Given the description of an element on the screen output the (x, y) to click on. 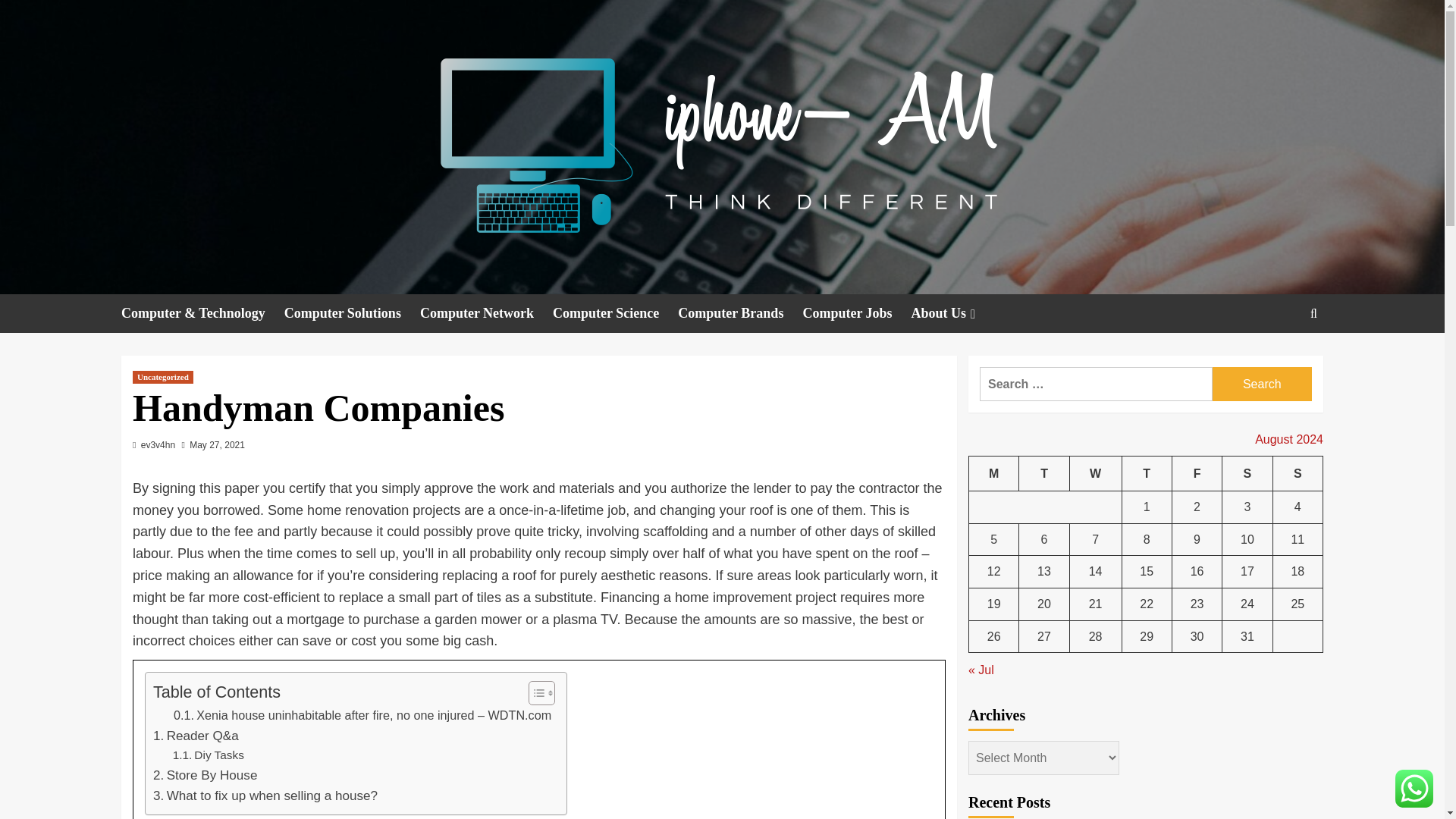
Wednesday (1094, 473)
Computer Solutions (351, 313)
Uncategorized (162, 377)
Diy Tasks (208, 755)
Store By House (204, 774)
Friday (1196, 473)
Computer Brands (740, 313)
Computer Network (486, 313)
Thursday (1146, 473)
Search (1261, 383)
Store By House (204, 774)
What to fix up when selling a house? (264, 795)
Saturday (1247, 473)
What to fix up when selling a house? (264, 795)
Computer Science (615, 313)
